Given the description of an element on the screen output the (x, y) to click on. 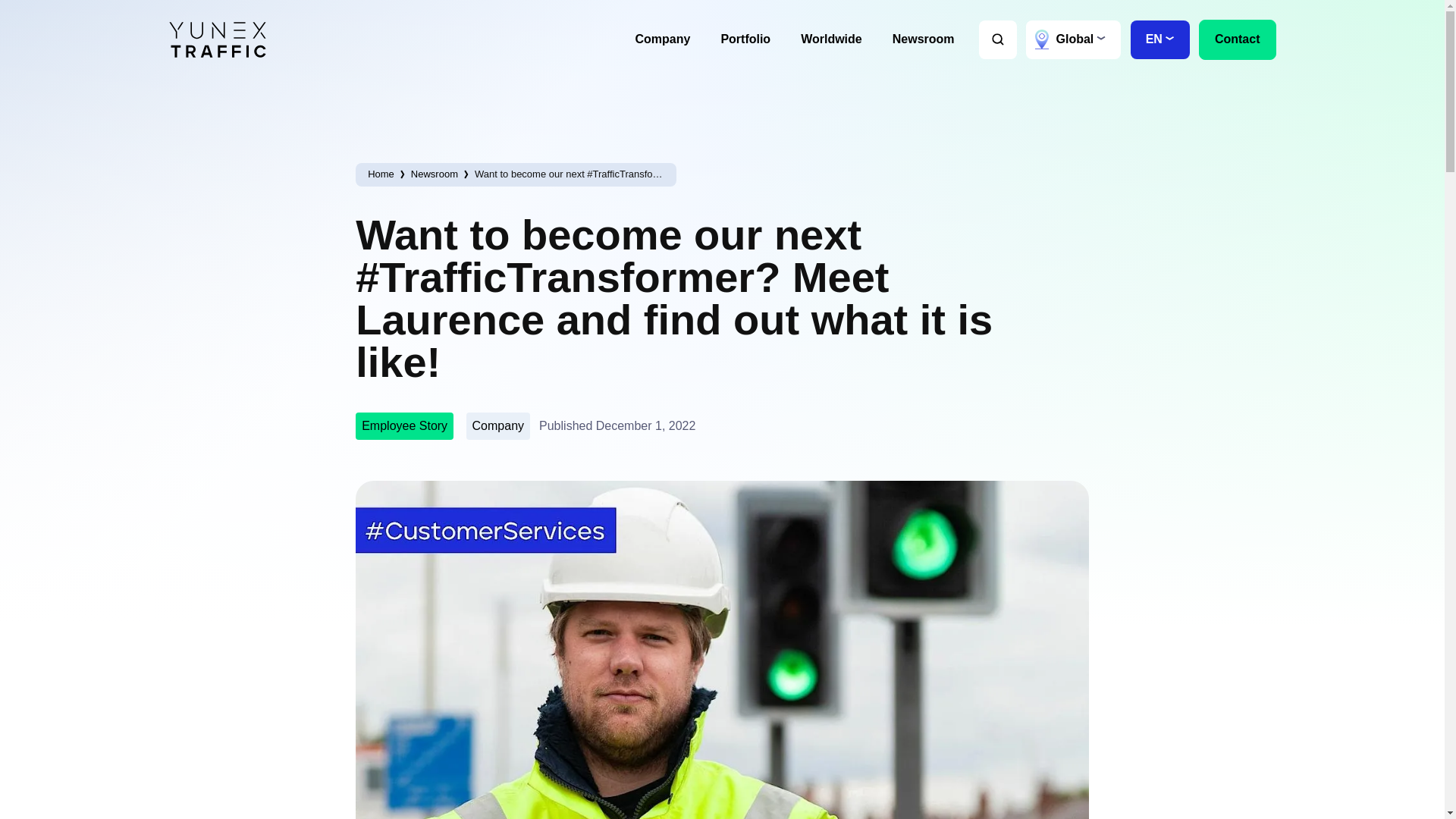
Company (662, 39)
Worldwide (831, 39)
Newsroom (923, 39)
Global (1073, 39)
Go to Newsroom. (434, 174)
Portfolio (745, 39)
